Given the description of an element on the screen output the (x, y) to click on. 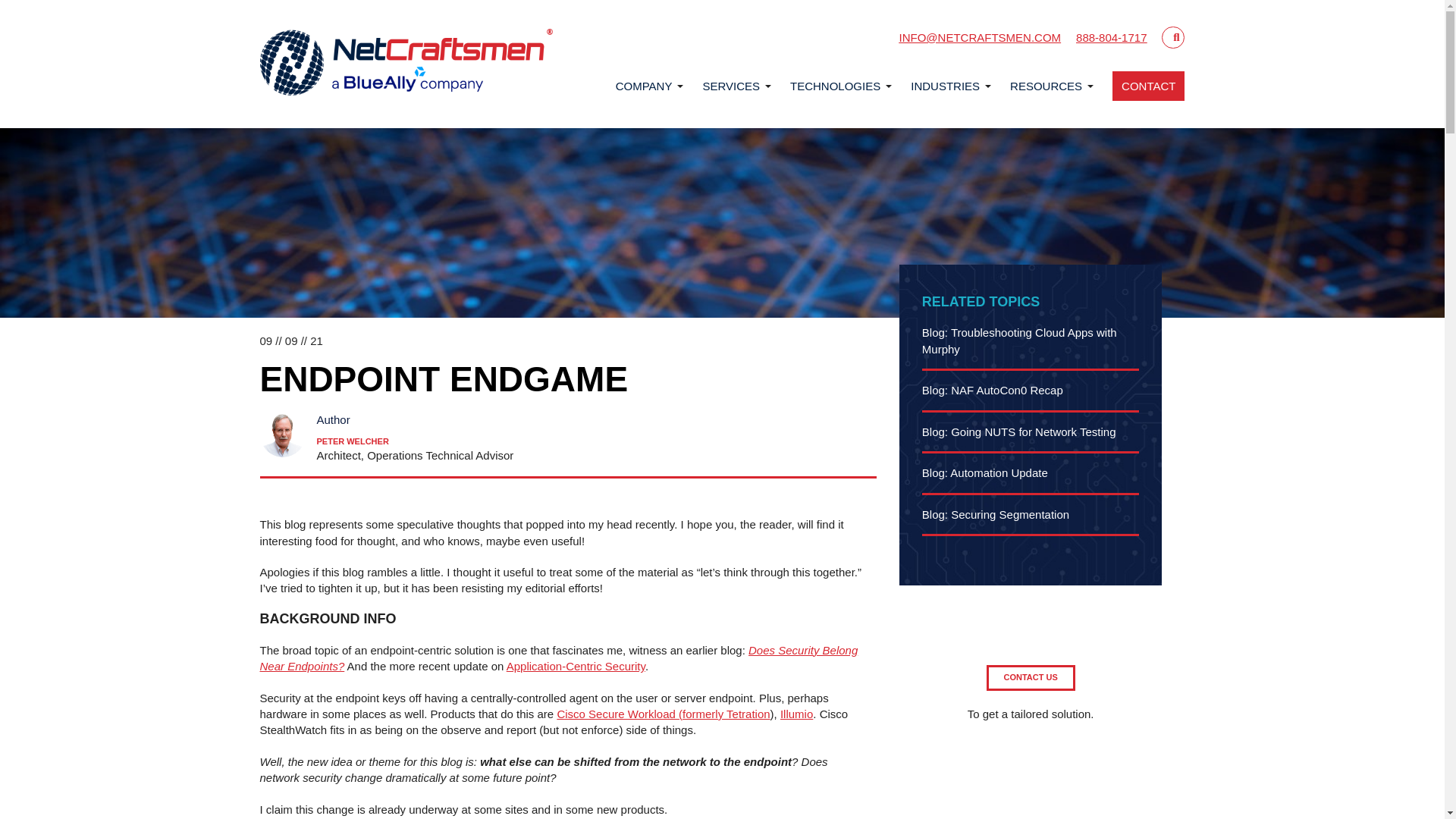
Illumio (796, 713)
Does Security Belong Near Endpoints? (558, 657)
SERVICES (730, 85)
Application-Centric Security (575, 666)
CONTACT (1148, 85)
NetCraftsmen, a BlueAlly Company (406, 63)
888-804-1717 (1111, 37)
COMPANY (643, 85)
RESOURCES (1045, 85)
TECHNOLOGIES (835, 85)
